Given the description of an element on the screen output the (x, y) to click on. 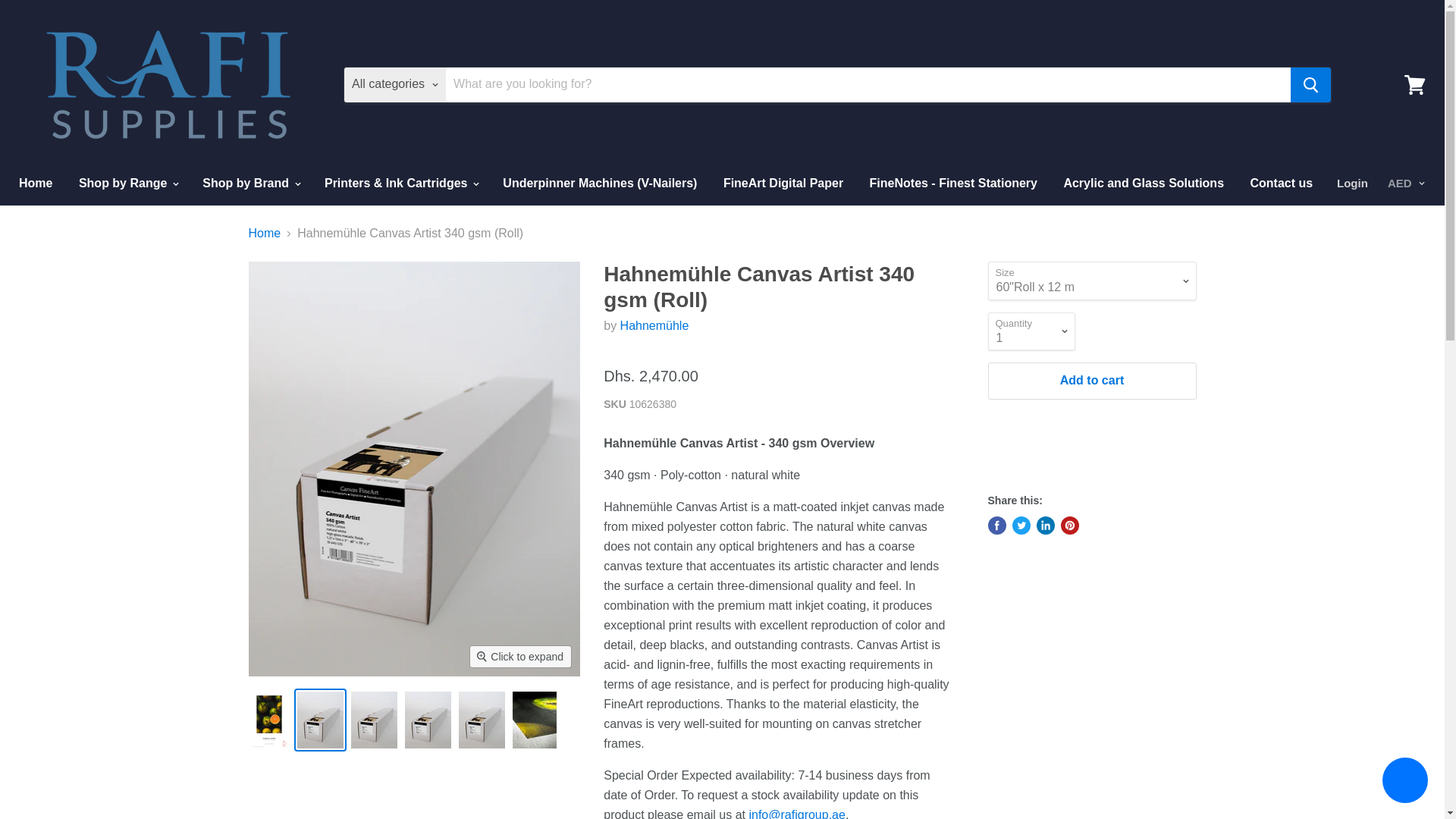
Home (35, 183)
Shopify online store chat (1404, 781)
Shop by Range (126, 183)
View cart (1414, 83)
Shop by Brand (249, 183)
